Given the description of an element on the screen output the (x, y) to click on. 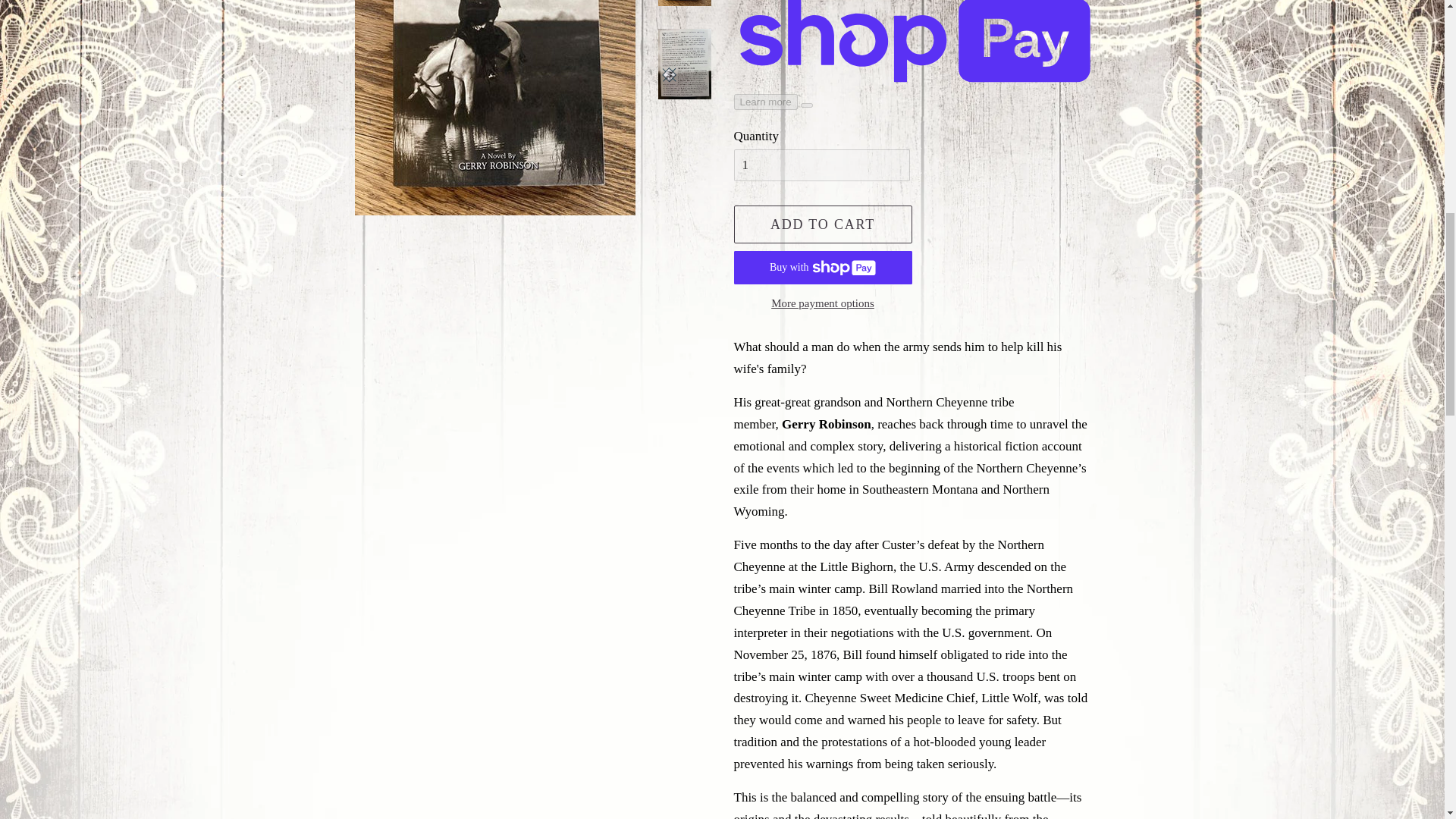
1 (821, 164)
